Given the description of an element on the screen output the (x, y) to click on. 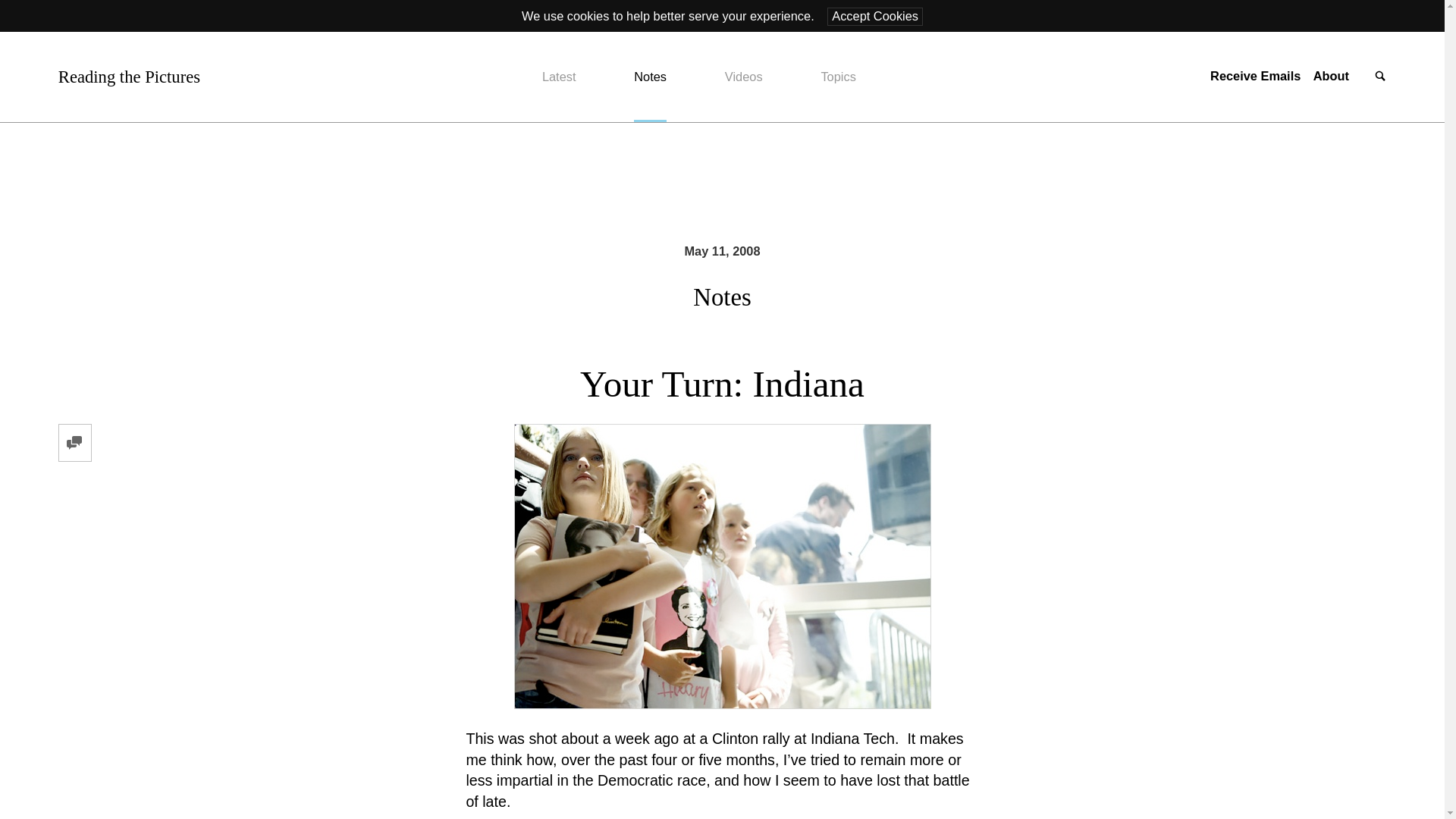
Accept Cookies (875, 16)
search (1380, 78)
About (1331, 75)
Newsletter Signup (1254, 75)
Receive Emails (1254, 75)
Reading the Pictures (129, 76)
Reading the Pictures (129, 76)
About (1331, 75)
